Given the description of an element on the screen output the (x, y) to click on. 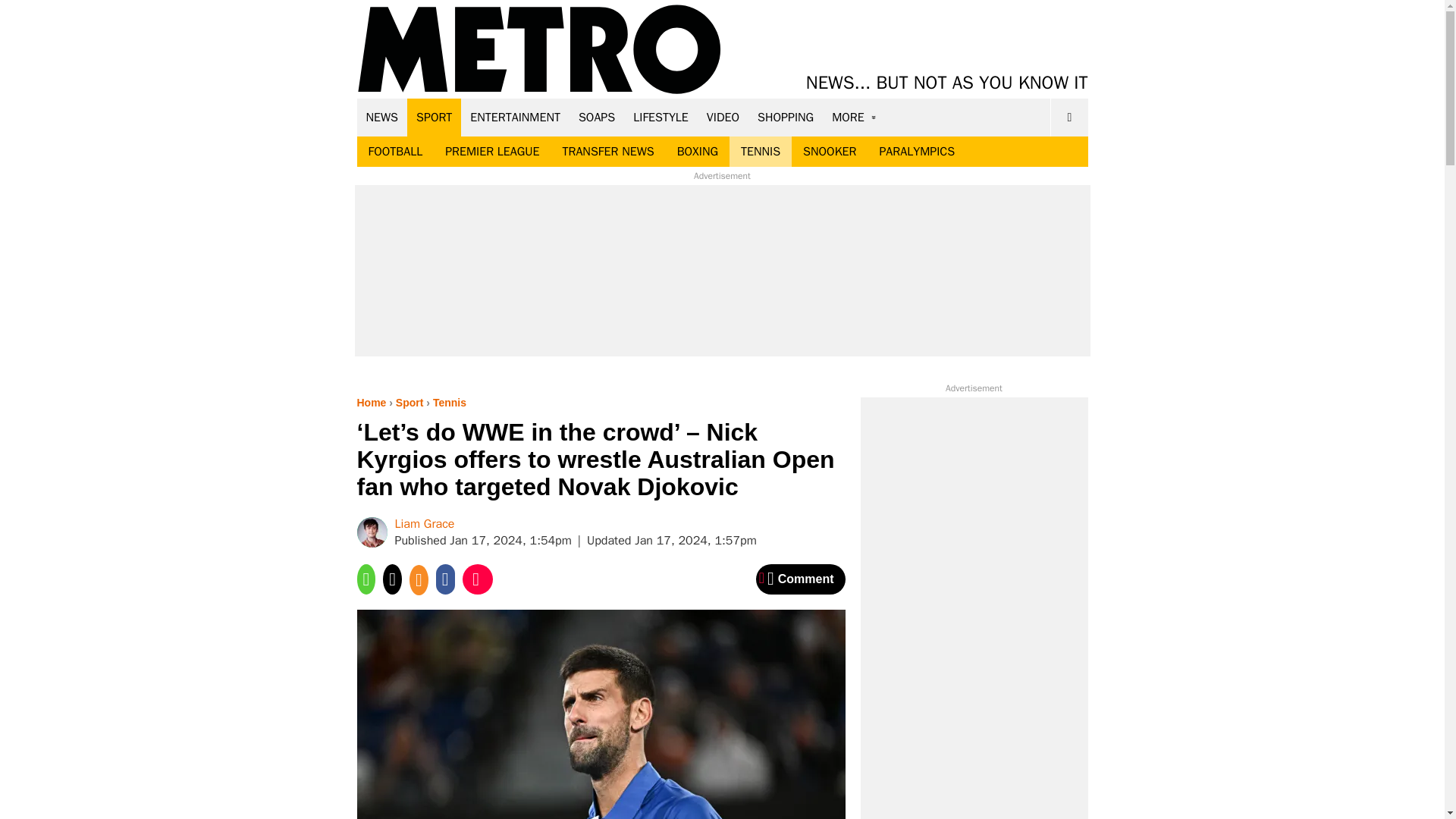
PARALYMPICS (916, 151)
SPORT (434, 117)
TRANSFER NEWS (607, 151)
LIFESTYLE (660, 117)
SNOOKER (829, 151)
BOXING (697, 151)
FOOTBALL (394, 151)
PREMIER LEAGUE (491, 151)
Metro (539, 50)
TENNIS (760, 151)
